Given the description of an element on the screen output the (x, y) to click on. 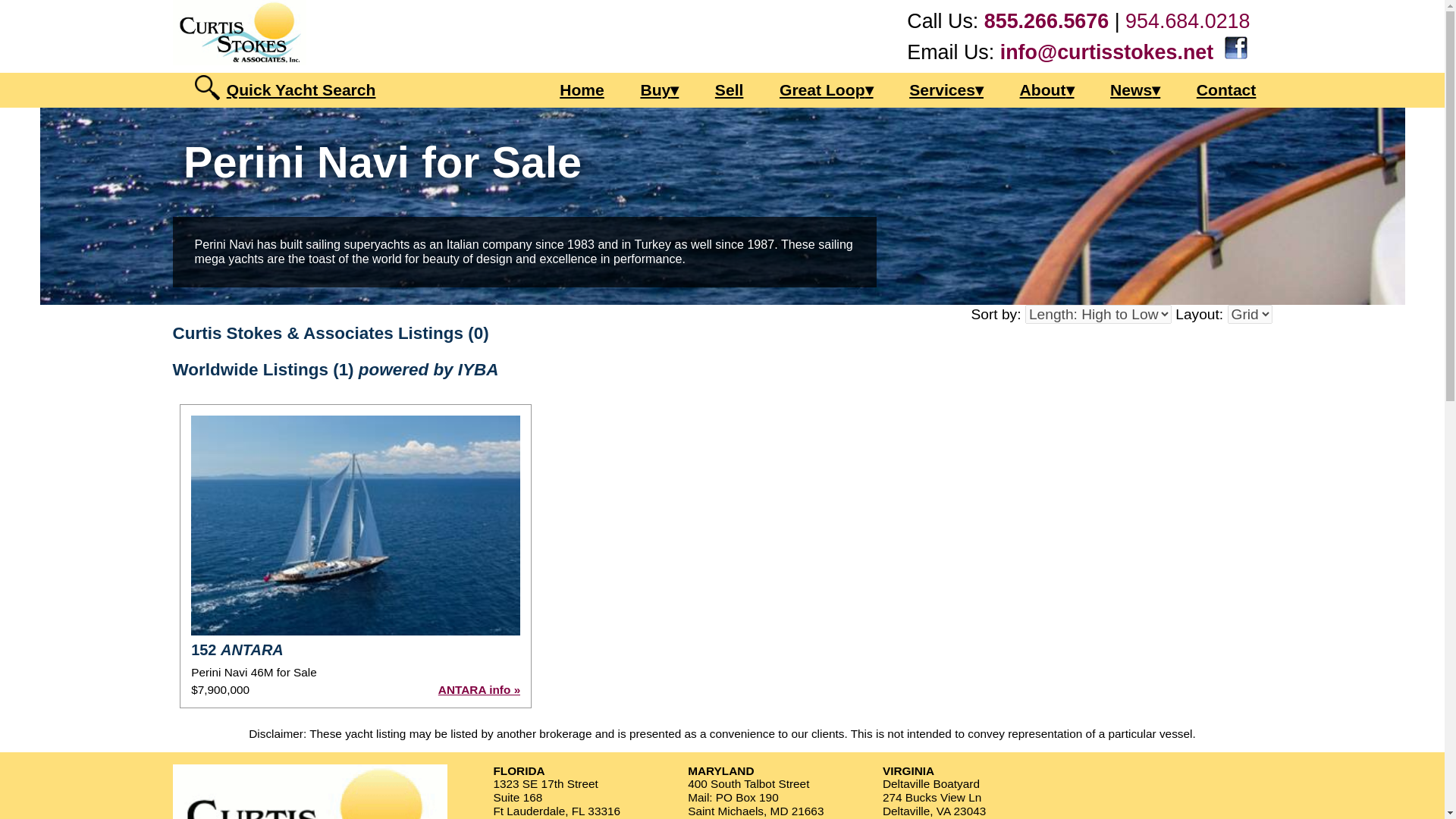
Sell (729, 89)
on (1277, 77)
Great Loop (825, 89)
Home (581, 89)
855.266.5676 (1046, 20)
ANTARA (354, 524)
About (1046, 89)
954.684.0218 (1187, 20)
Services (945, 89)
News (1135, 89)
